Given the description of an element on the screen output the (x, y) to click on. 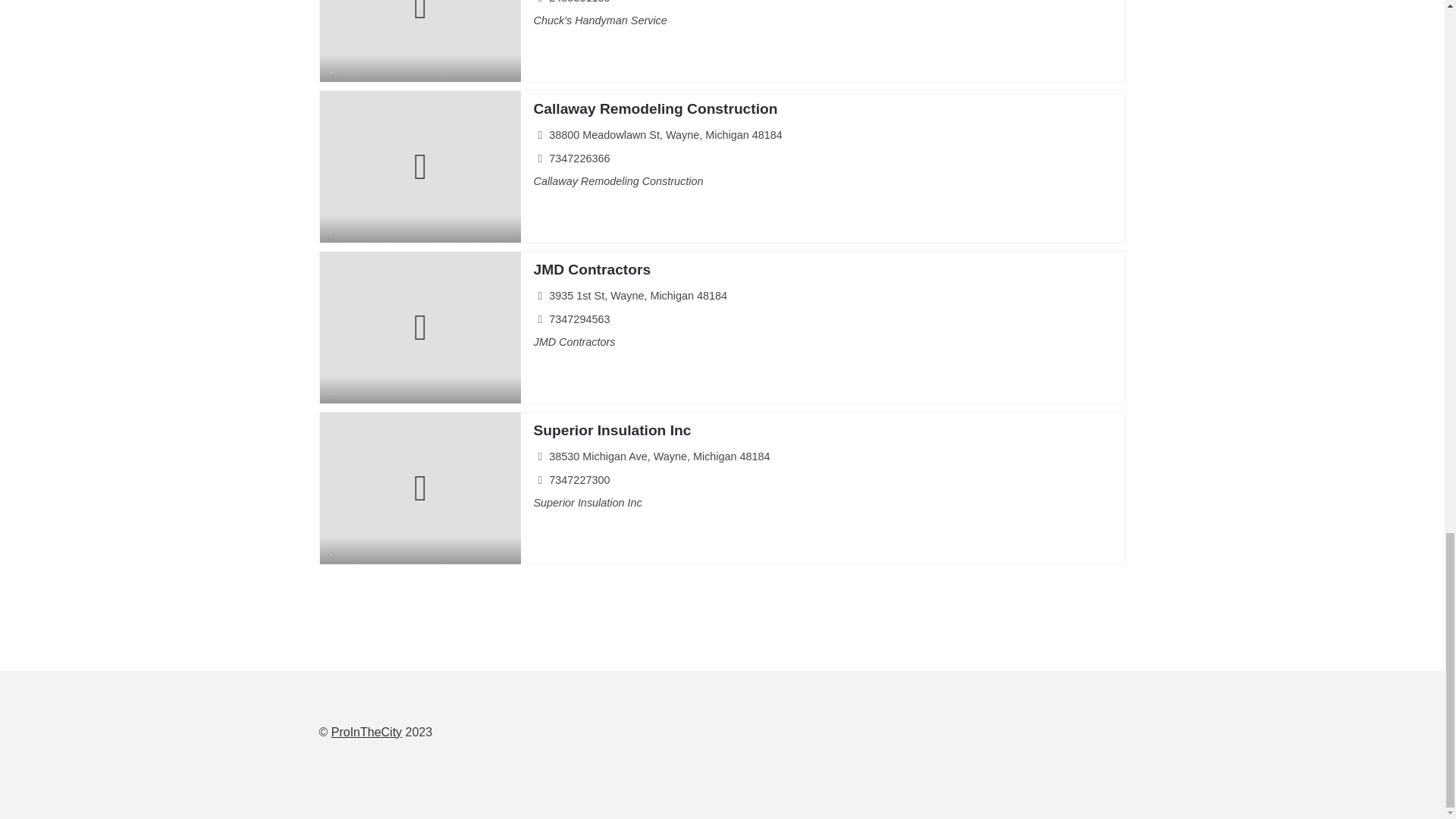
Callaway Remodeling Construction (654, 108)
JMD Contractors (591, 269)
